Given the description of an element on the screen output the (x, y) to click on. 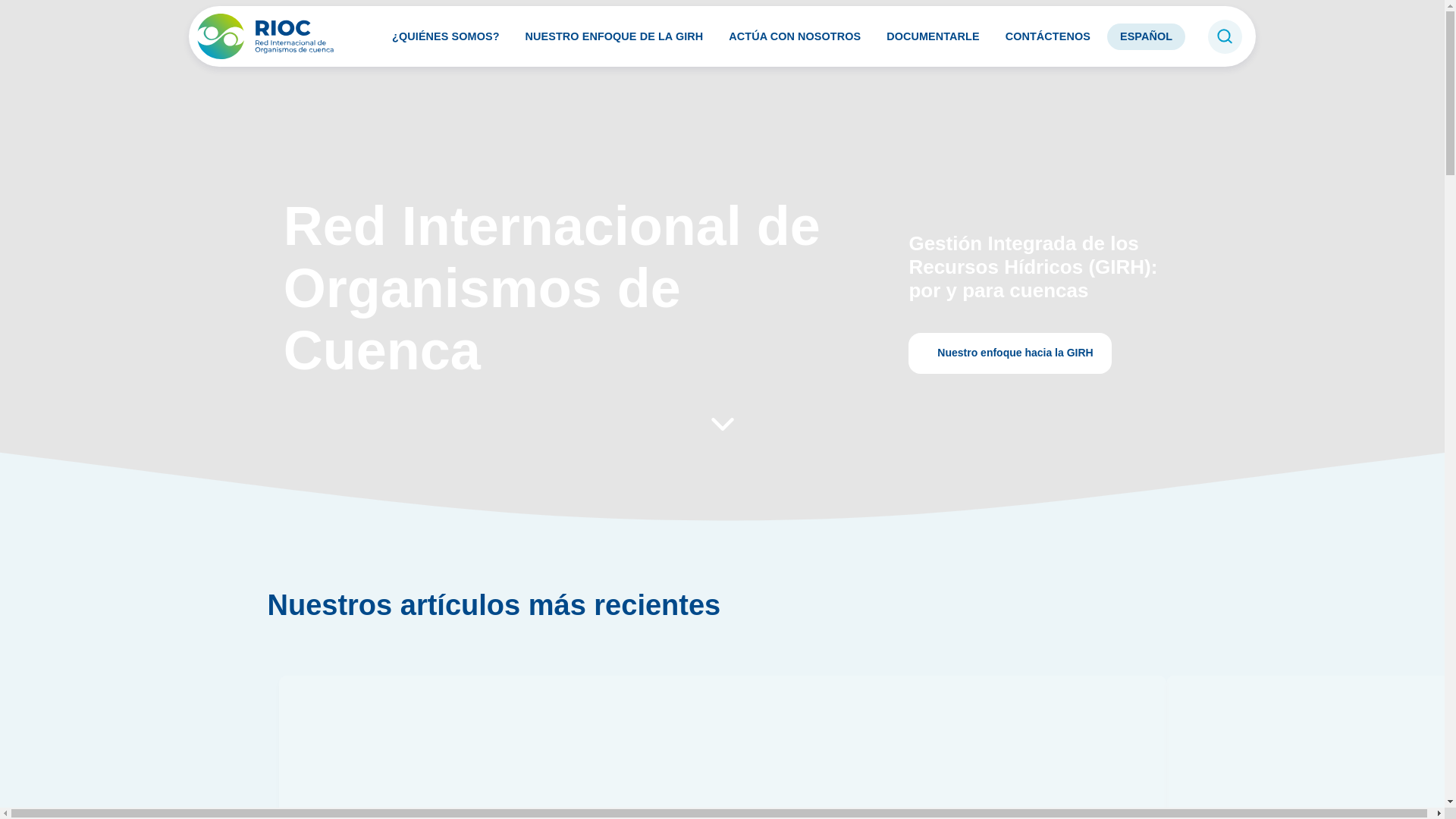
RIOC (269, 35)
NUESTRO ENFOQUE DE LA GIRH (614, 35)
